Given the description of an element on the screen output the (x, y) to click on. 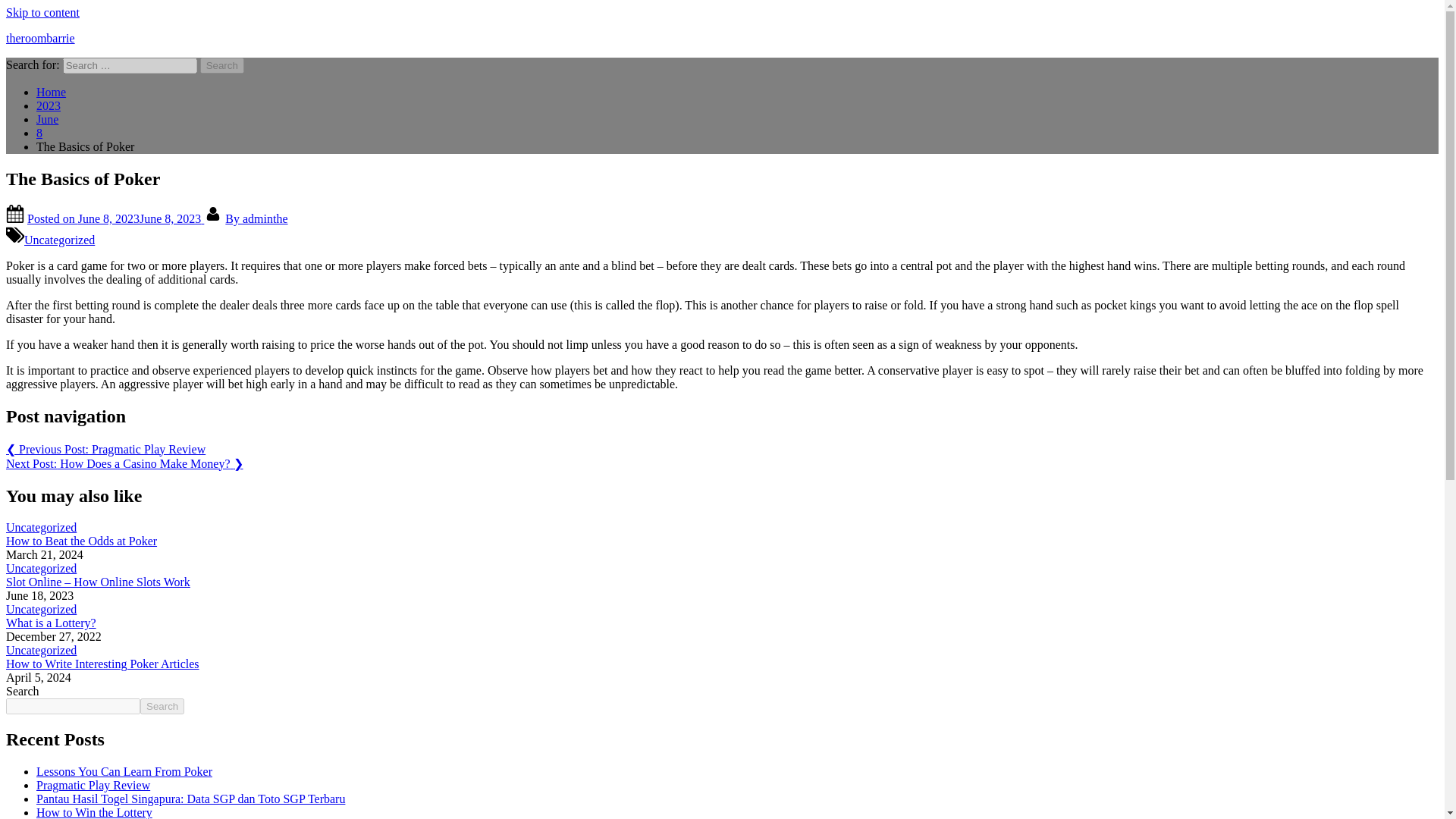
Uncategorized (41, 608)
Lessons You Can Learn From Poker (124, 771)
Skip to content (42, 11)
Pragmatic Play Review (92, 784)
Uncategorized (41, 567)
What is a Lottery? (50, 622)
Search (222, 65)
How to Beat the Odds at Poker (81, 540)
theroombarrie (40, 38)
Search (222, 65)
2023 (48, 105)
June (47, 119)
Search (161, 706)
Uncategorized (41, 649)
How to Win the Lottery (94, 812)
